Given the description of an element on the screen output the (x, y) to click on. 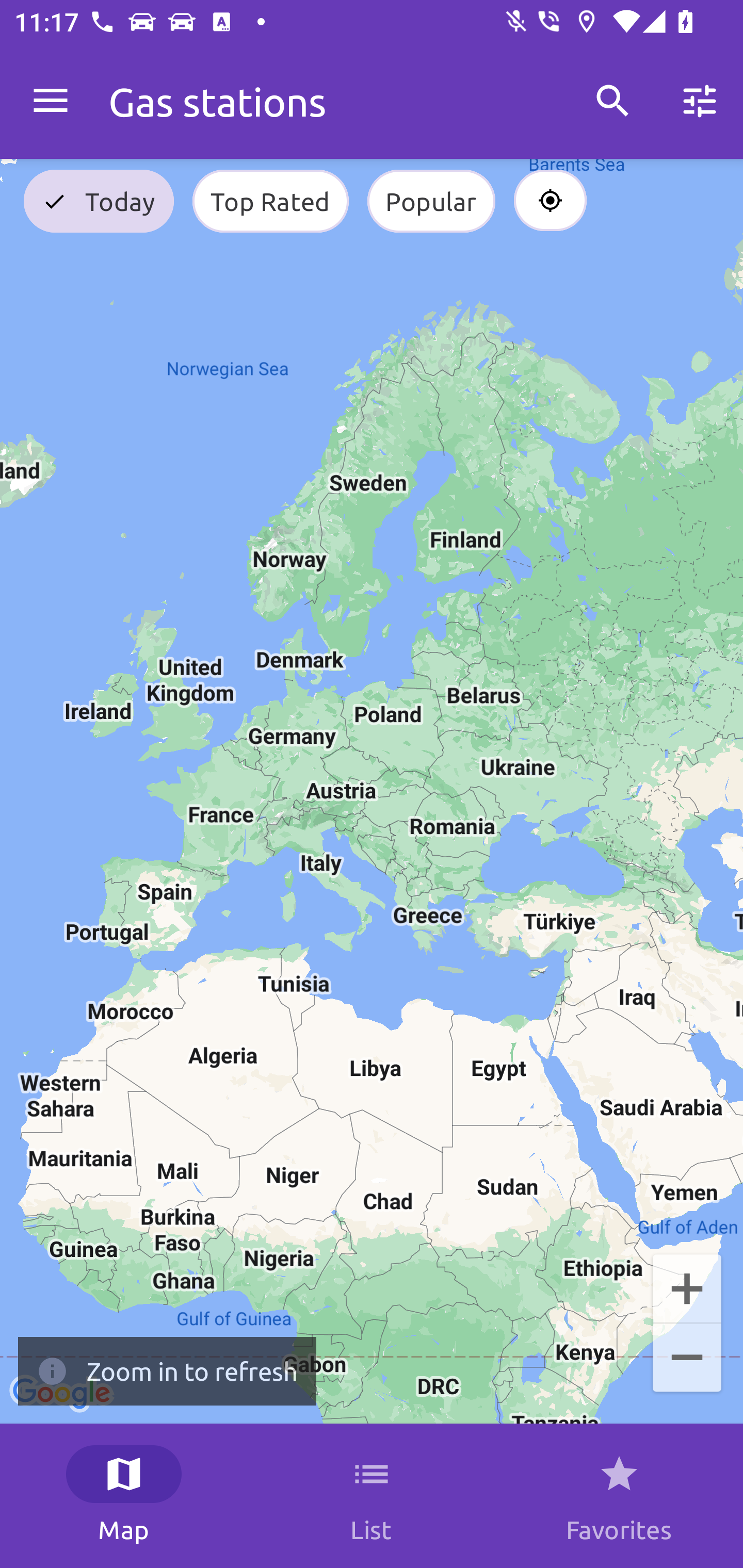
Fuelio (50, 101)
Search (612, 101)
Filter (699, 101)
Selected Today (98, 201)
Top Rated (270, 201)
Popular (431, 201)
Selected (549, 201)
Zoom in (687, 1287)
Zoom out (687, 1359)
